Given the description of an element on the screen output the (x, y) to click on. 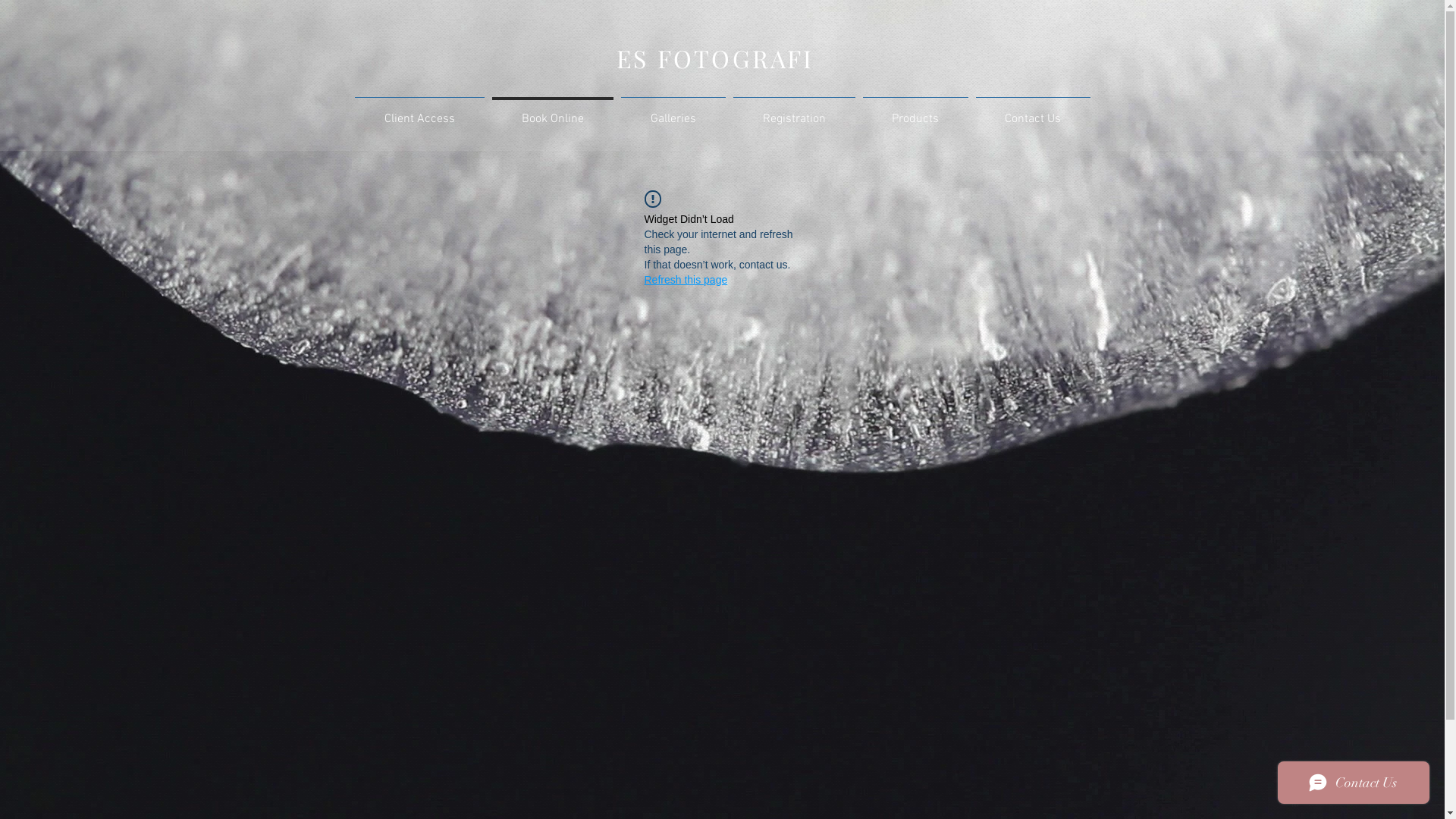
Galleries Element type: text (673, 112)
Products Element type: text (914, 112)
Registration Element type: text (794, 112)
Contact Us Element type: text (1033, 112)
Client Access Element type: text (418, 112)
Refresh this page Element type: text (686, 279)
ES FOTOGRAFI Element type: text (714, 57)
Book Online Element type: text (552, 112)
